Given the description of an element on the screen output the (x, y) to click on. 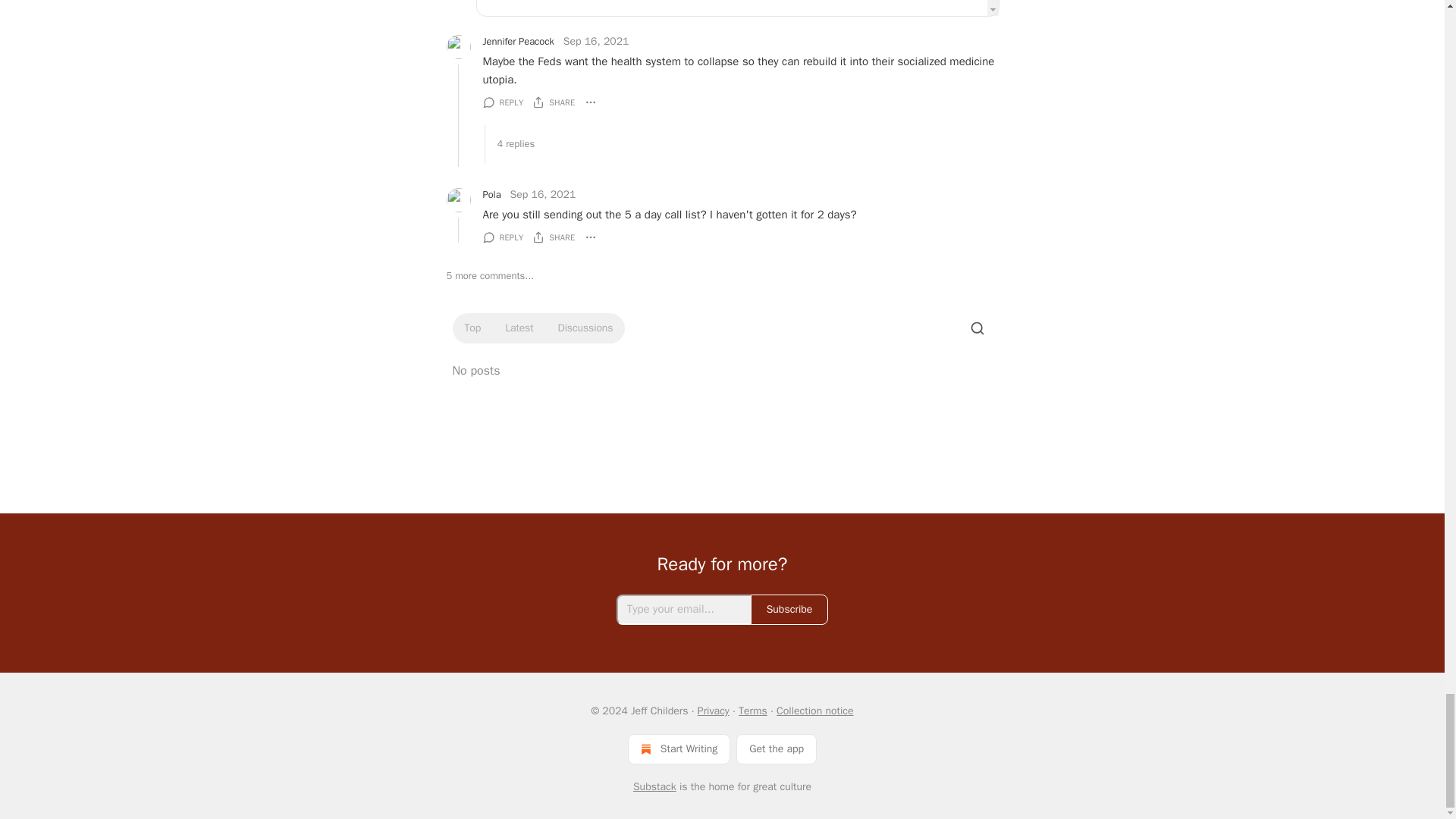
Jennifer Peacock (517, 41)
4 replies (740, 143)
REPLY (501, 102)
Sep 16, 2021 (595, 41)
SHARE (553, 102)
